Given the description of an element on the screen output the (x, y) to click on. 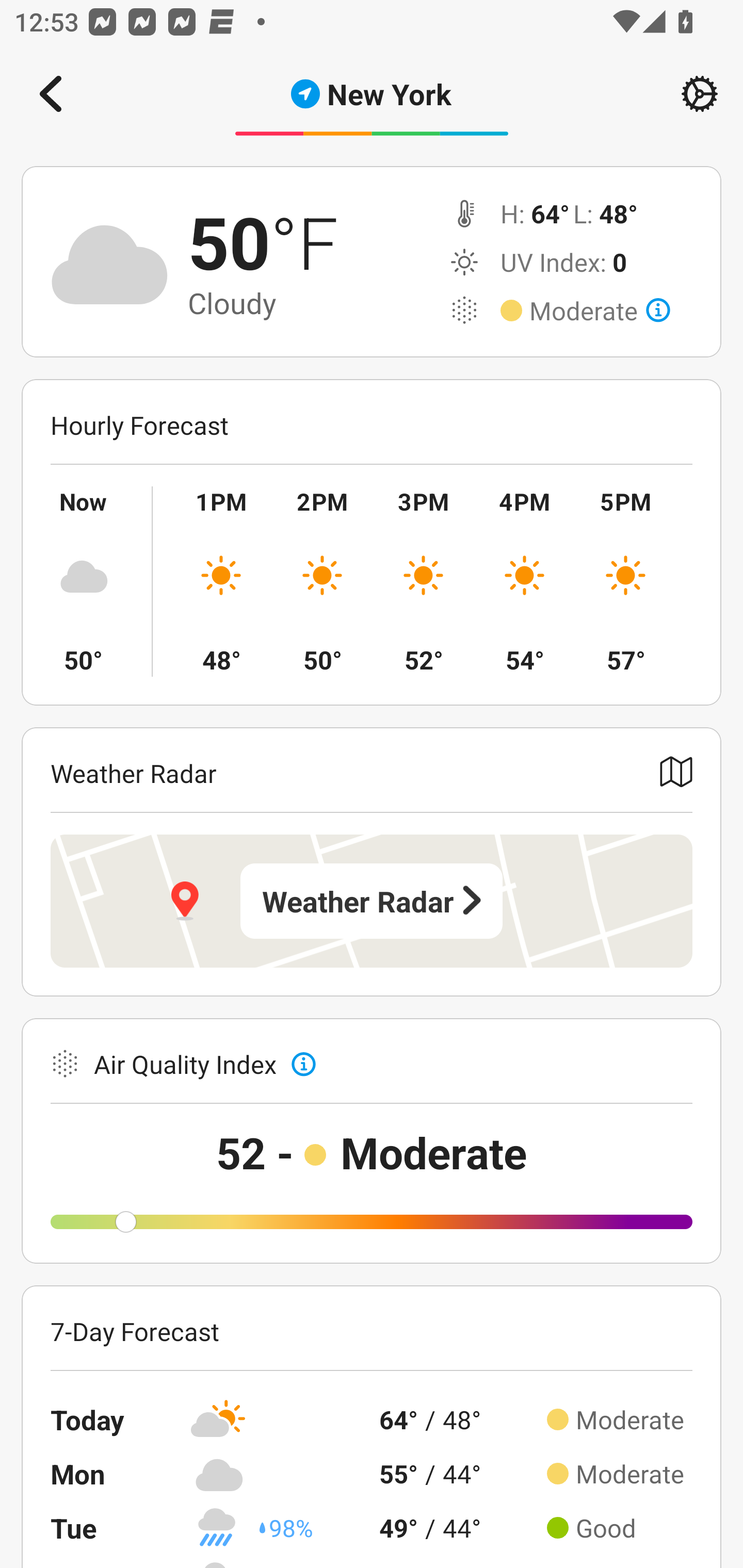
Navigate up (50, 93)
Setting (699, 93)
Moderate (599, 310)
Weather Radar (371, 900)
